Given the description of an element on the screen output the (x, y) to click on. 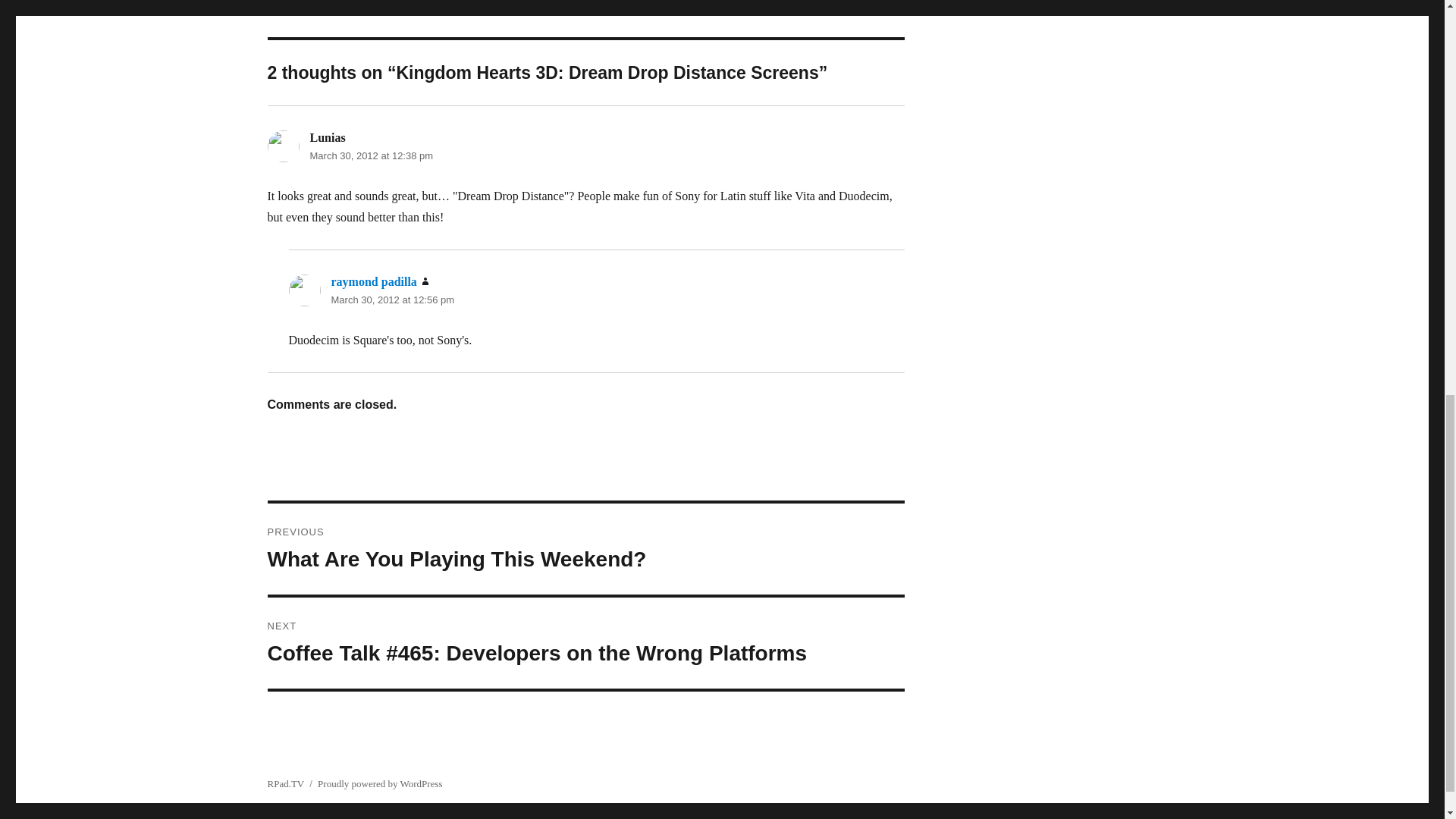
RPad.TV (285, 783)
March 30, 2012 at 12:38 pm (370, 155)
raymond padilla (373, 281)
March 30, 2012 at 12:56 pm (392, 299)
Proudly powered by WordPress (379, 783)
